Given the description of an element on the screen output the (x, y) to click on. 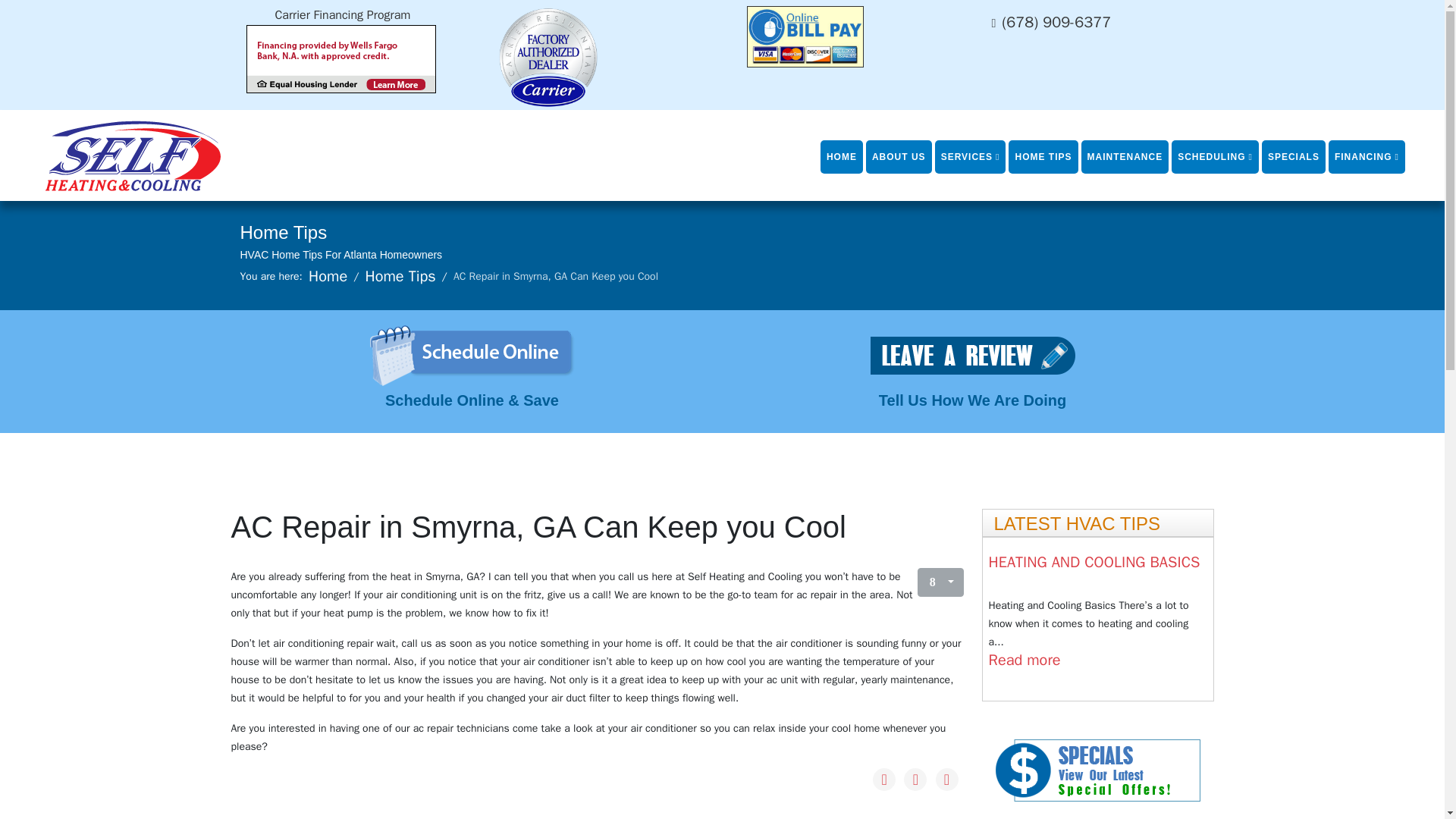
ABOUT US (898, 156)
SCHEDULING (1215, 156)
MAINTENANCE (1125, 156)
Home Tips (400, 275)
SERVICES (970, 156)
SPECIALS (1293, 156)
Heating and Cooling Basics (1024, 659)
Scheduling (1215, 156)
Home (327, 275)
HOME (842, 156)
Heating and Cooling Basics (1093, 574)
Schedule Online (471, 355)
Tell Us How We Are Doing (972, 400)
HOME TIPS (1043, 156)
Atlanta Heating and Air Conditioning  (472, 355)
